Given the description of an element on the screen output the (x, y) to click on. 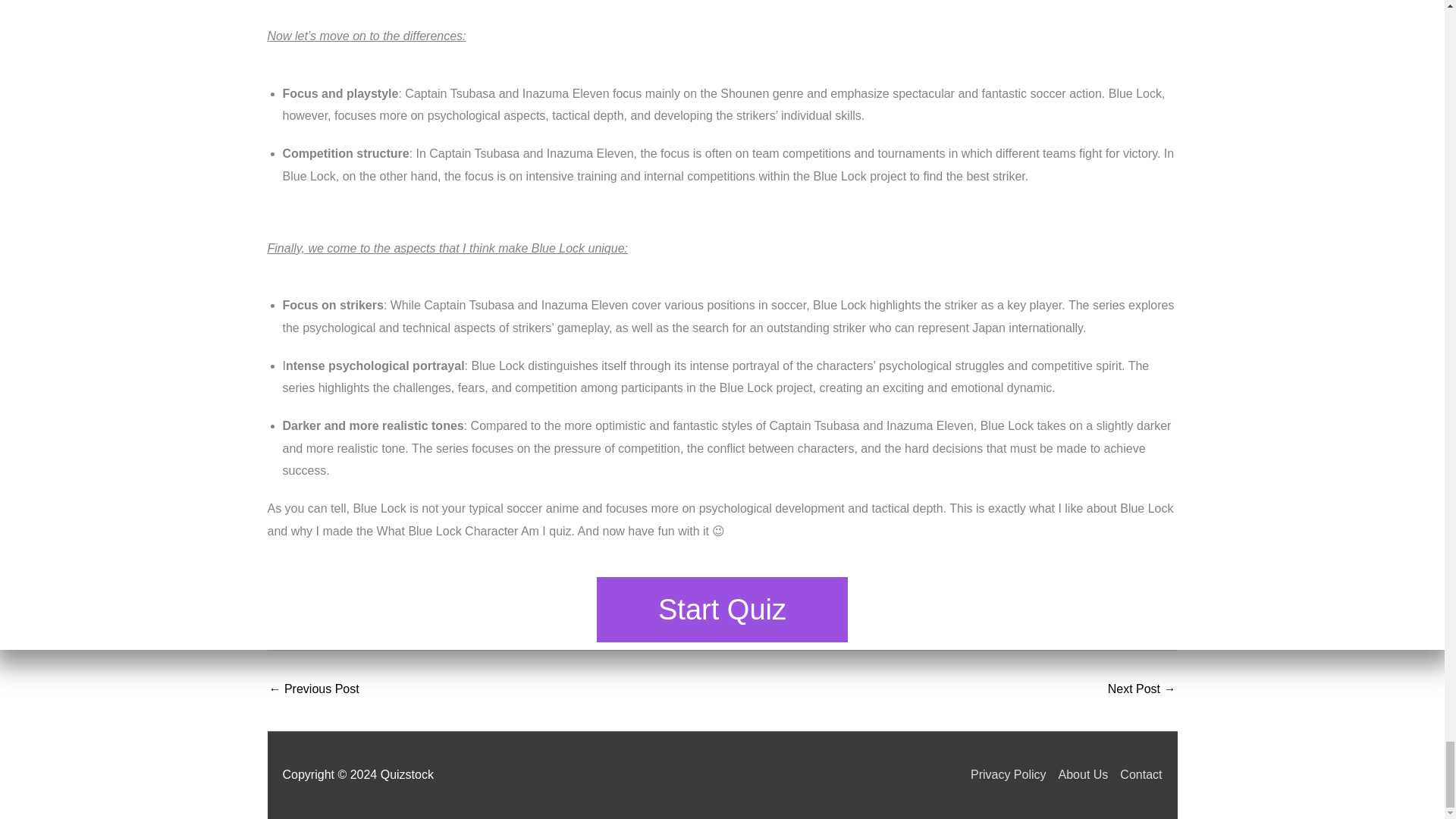
All American Quiz - Which All American Character Are You? (1142, 690)
About Us (1077, 774)
Privacy Policy (1002, 774)
Contact (1134, 774)
Start Quiz (721, 609)
